Given the description of an element on the screen output the (x, y) to click on. 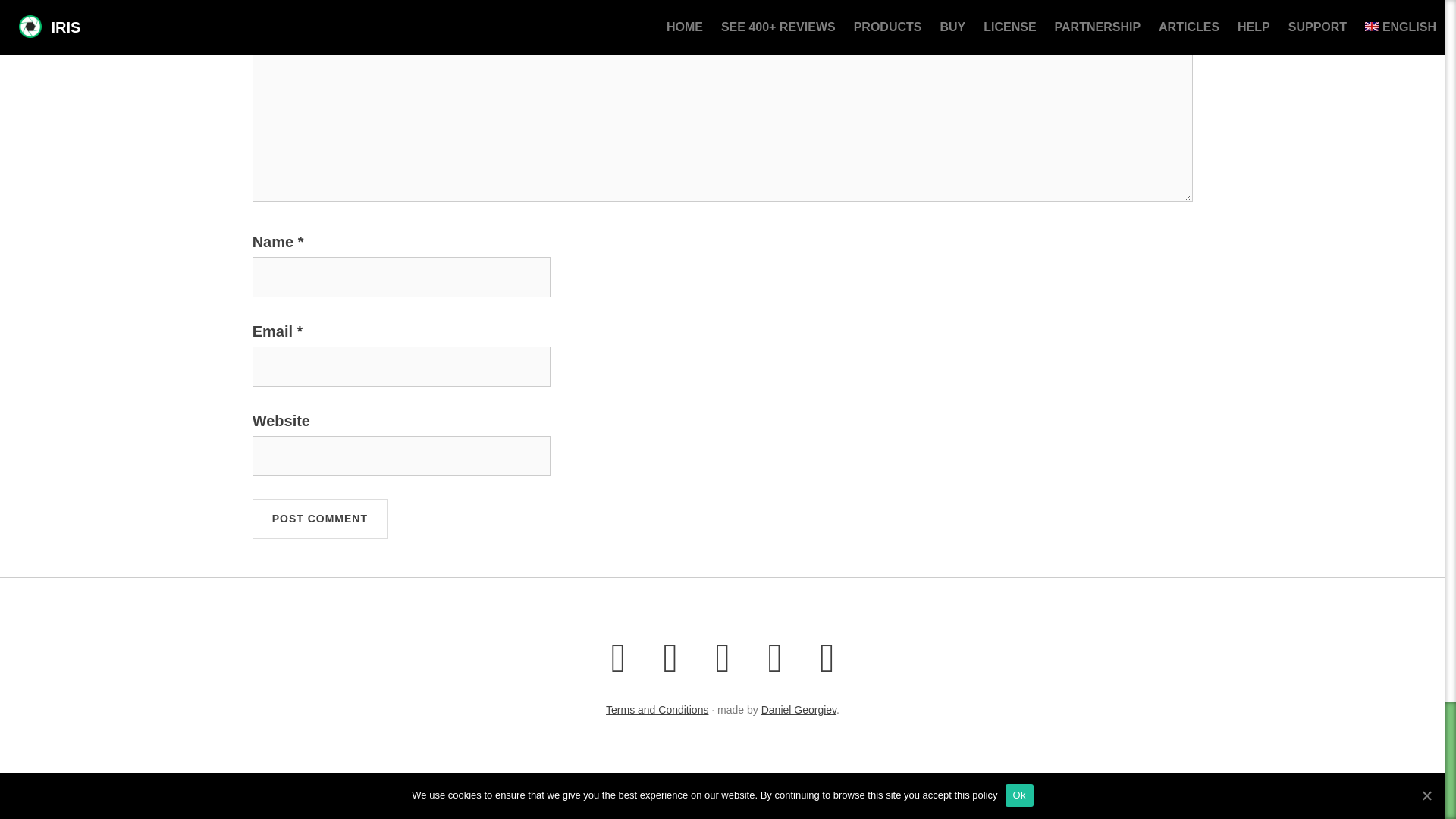
Post Comment (319, 518)
